Given the description of an element on the screen output the (x, y) to click on. 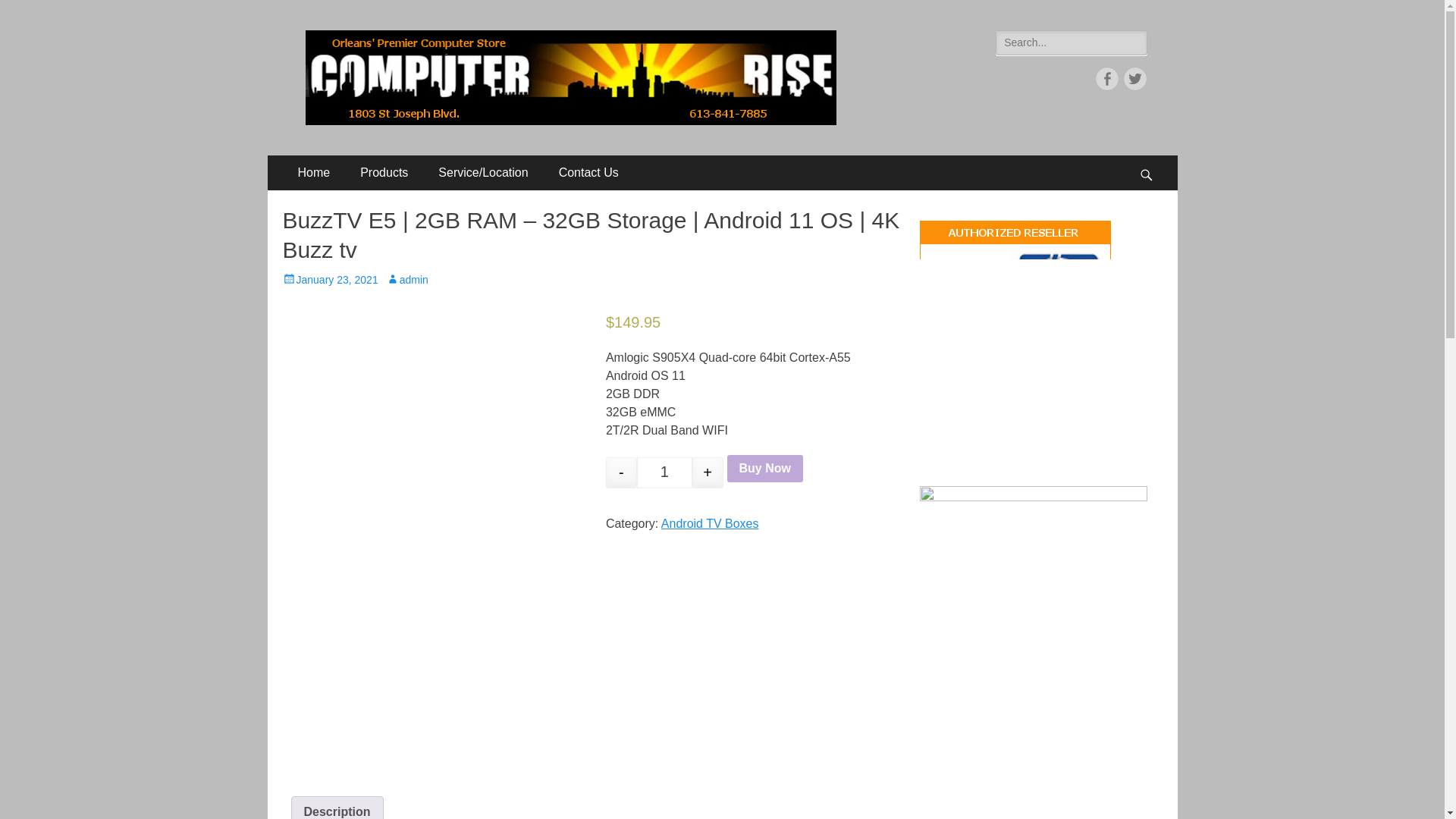
Search for: (1071, 42)
- (621, 472)
Buy Now (764, 468)
Android TV Boxes (709, 522)
Qty (665, 472)
COMPUTER RISE (417, 48)
Contact Us (588, 172)
Twitter (1134, 78)
Twitter (1134, 78)
Facebook (1106, 78)
